Given the description of an element on the screen output the (x, y) to click on. 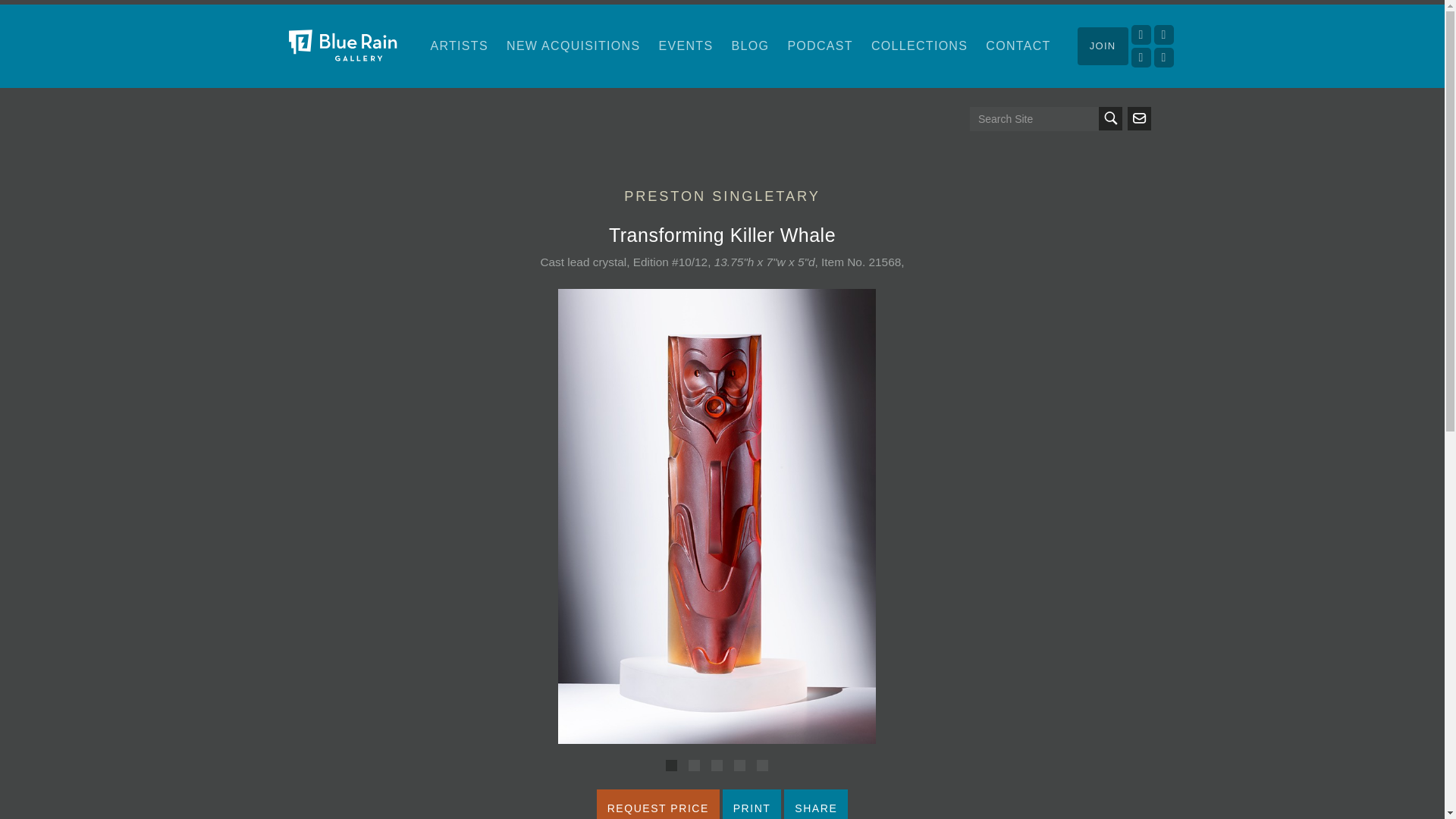
NEW ACQUISITIONS (573, 45)
REQUEST PRICE (657, 804)
EVENTS (686, 45)
ARTISTS (458, 45)
BLOG (751, 45)
SEND US AN EMAIL (1138, 118)
PRINT (751, 804)
PRESTON SINGLETARY (722, 196)
COLLECTIONS (919, 45)
CONTACT (1017, 45)
